Given the description of an element on the screen output the (x, y) to click on. 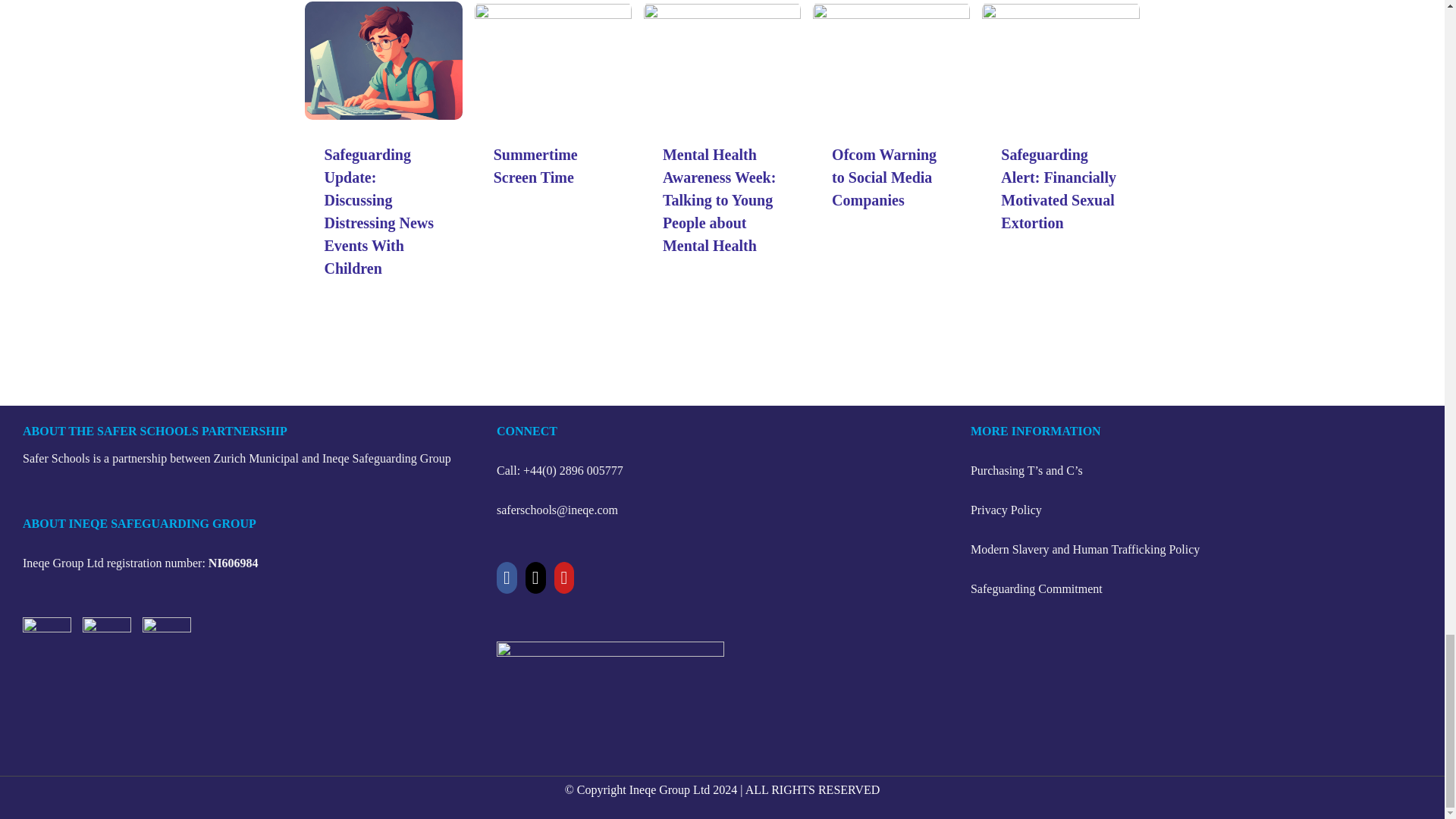
Ofcom Warning to Social Media Companies (883, 177)
Safeguarding Commitment (1036, 588)
Summertime Screen Time (535, 165)
Safeguarding Alert: Financially Motivated Sexual Extortion (1058, 188)
Modern Slavery and Human Trafficking Policy (1085, 549)
Privacy Policy (1006, 509)
